Given the description of an element on the screen output the (x, y) to click on. 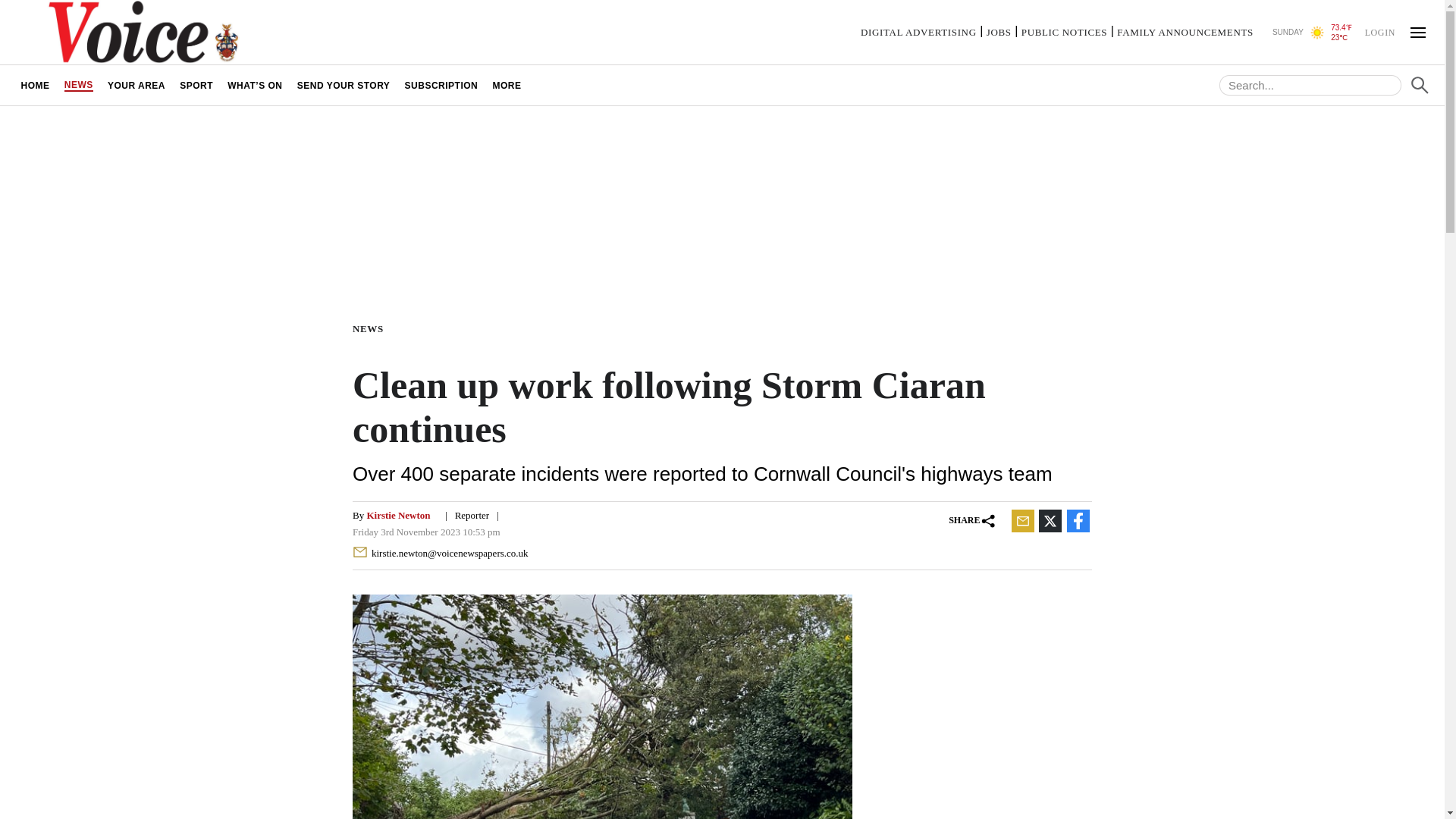
Kirstie Newton (397, 514)
SPORT (197, 85)
HOME (34, 85)
NEWS (371, 328)
SUBSCRIPTION (440, 85)
FAMILY ANNOUNCEMENTS (1184, 32)
NEWS (78, 85)
LOGIN (1379, 31)
SEND YOUR STORY (343, 85)
MORE (506, 85)
